Given the description of an element on the screen output the (x, y) to click on. 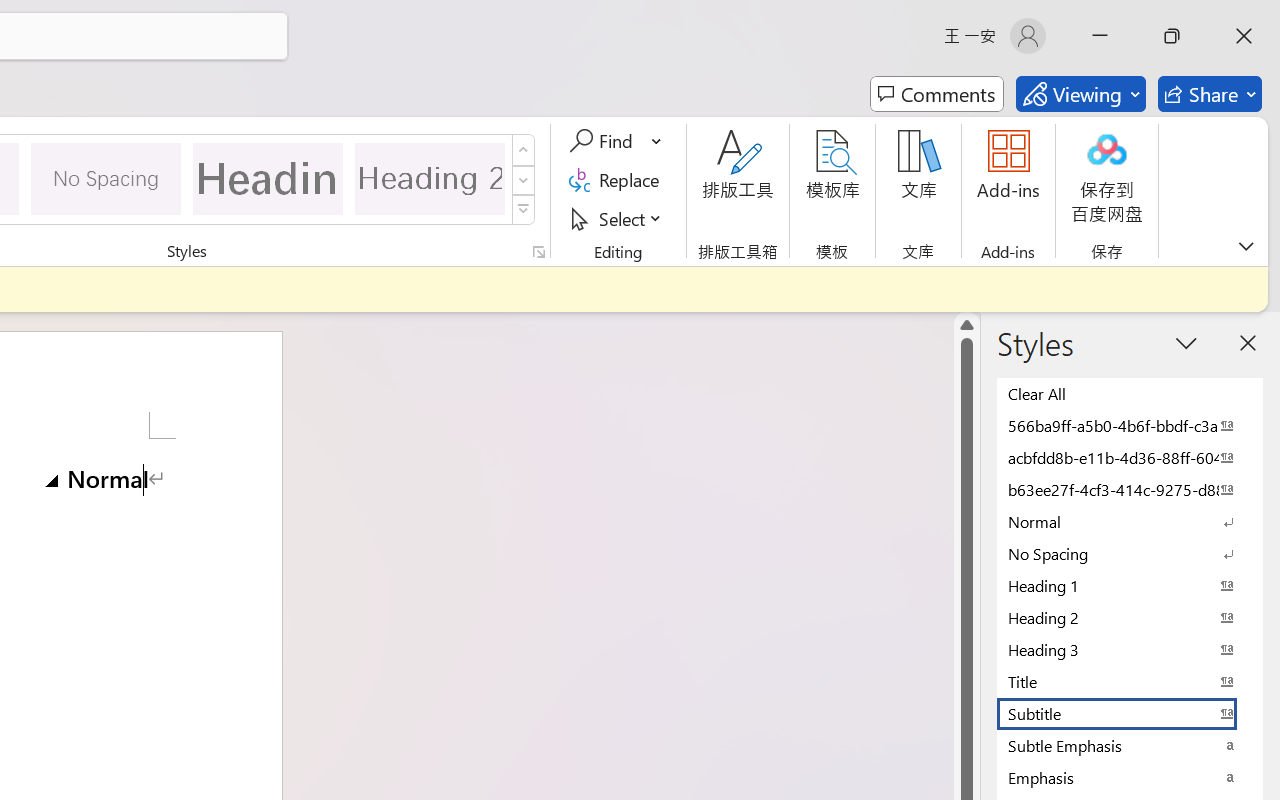
Clear All (1130, 393)
No Spacing (1130, 553)
Title (1130, 681)
Replace... (617, 179)
Heading 2 (429, 178)
566ba9ff-a5b0-4b6f-bbdf-c3ab41993fc2 (1130, 425)
Subtitle (1130, 713)
